Given the description of an element on the screen output the (x, y) to click on. 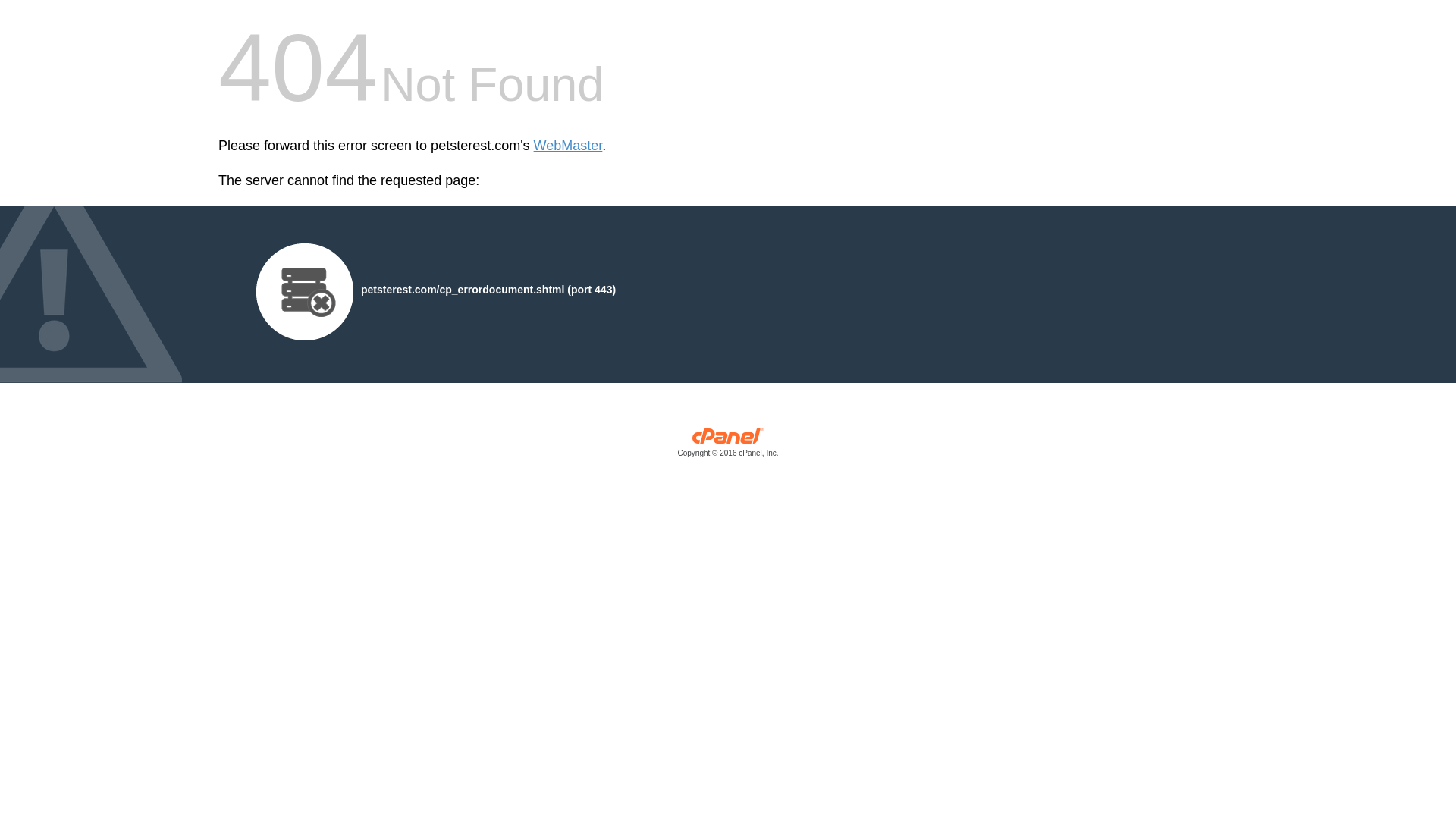
cPanel, Inc. (727, 446)
WebMaster (568, 145)
